Given the description of an element on the screen output the (x, y) to click on. 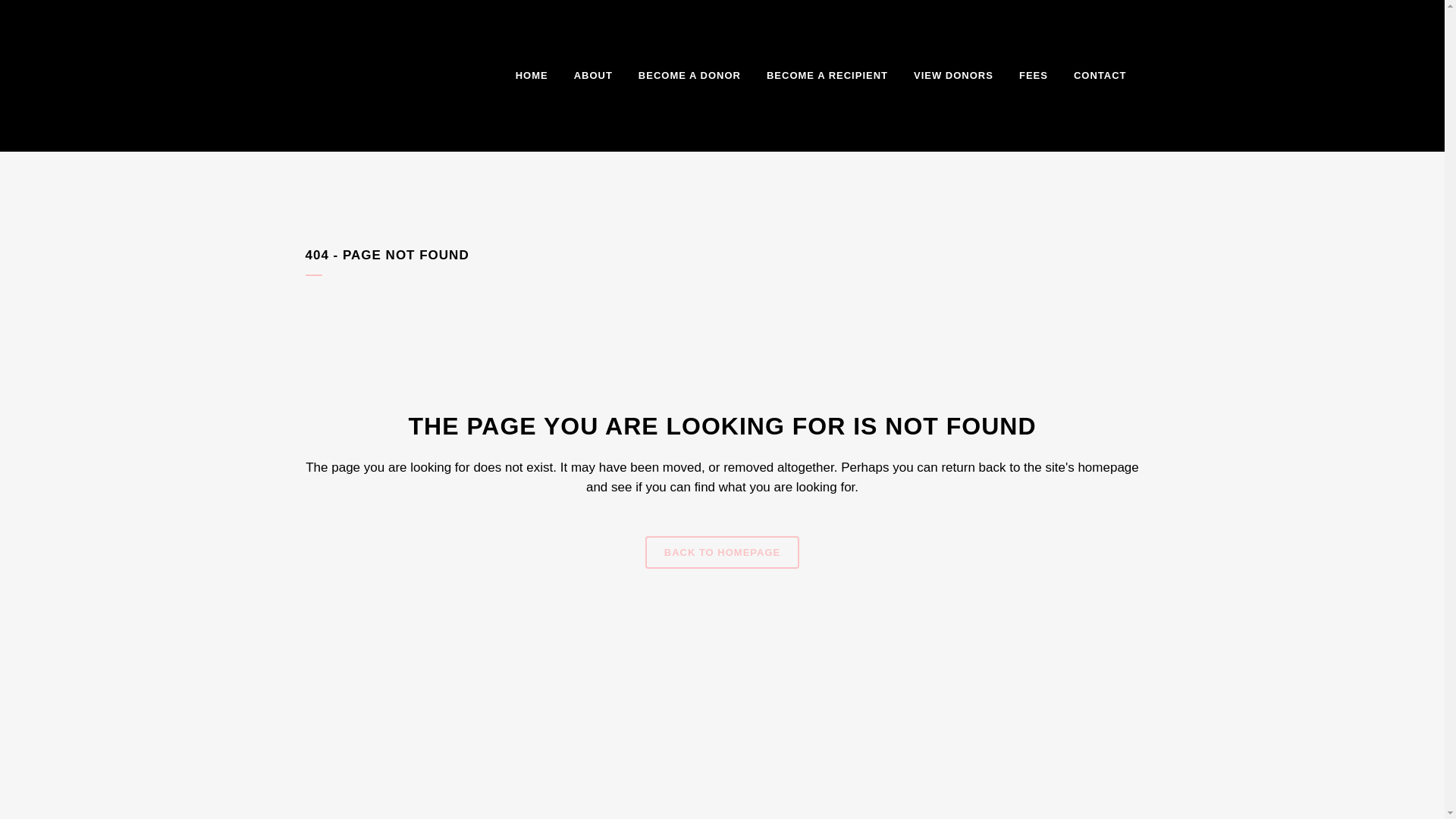
BECOME A RECIPIENT (827, 75)
BACK TO HOMEPAGE (722, 552)
